Given the description of an element on the screen output the (x, y) to click on. 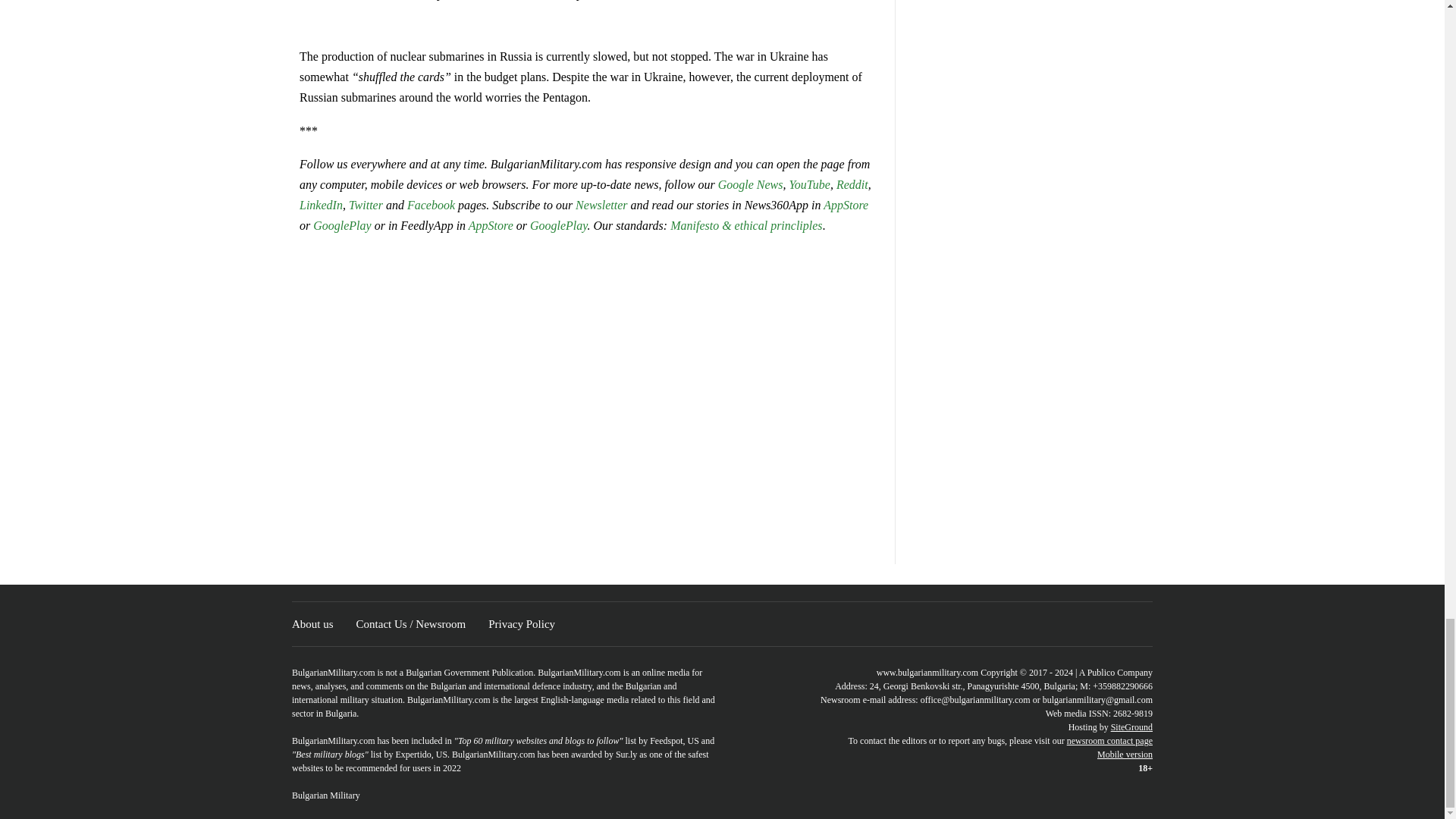
Google News (750, 184)
AppStore (490, 225)
Twitter (367, 205)
AppStore (845, 205)
GooglePlay (342, 225)
LinkedIn (320, 205)
Newsletter (601, 205)
Reddit (851, 184)
Facebook (430, 205)
